Given the description of an element on the screen output the (x, y) to click on. 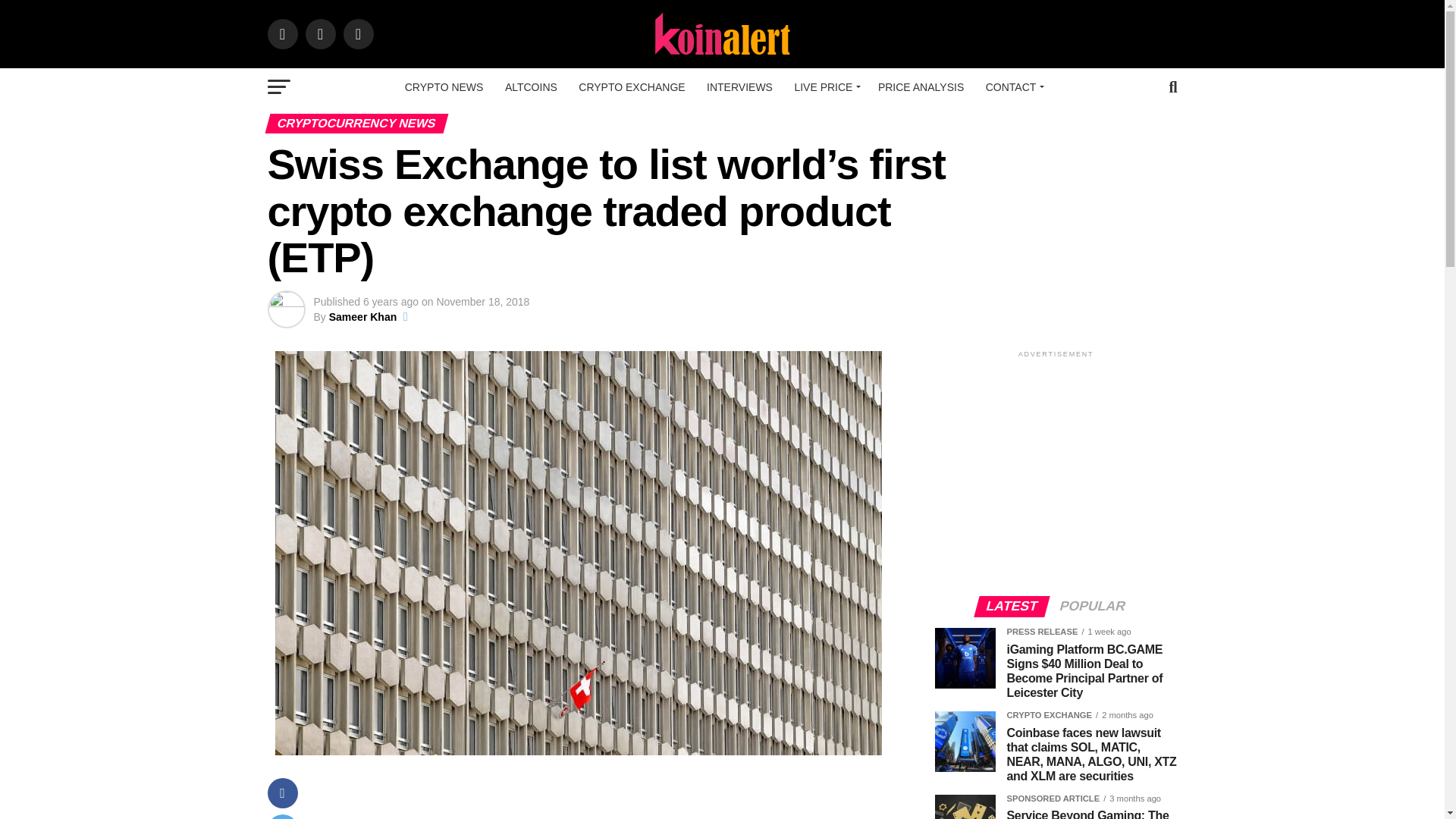
ALTCOINS (531, 86)
Posts by Sameer Khan (362, 316)
Advertisement (603, 801)
Advertisement (1061, 467)
CRYPTO NEWS (444, 86)
